Given the description of an element on the screen output the (x, y) to click on. 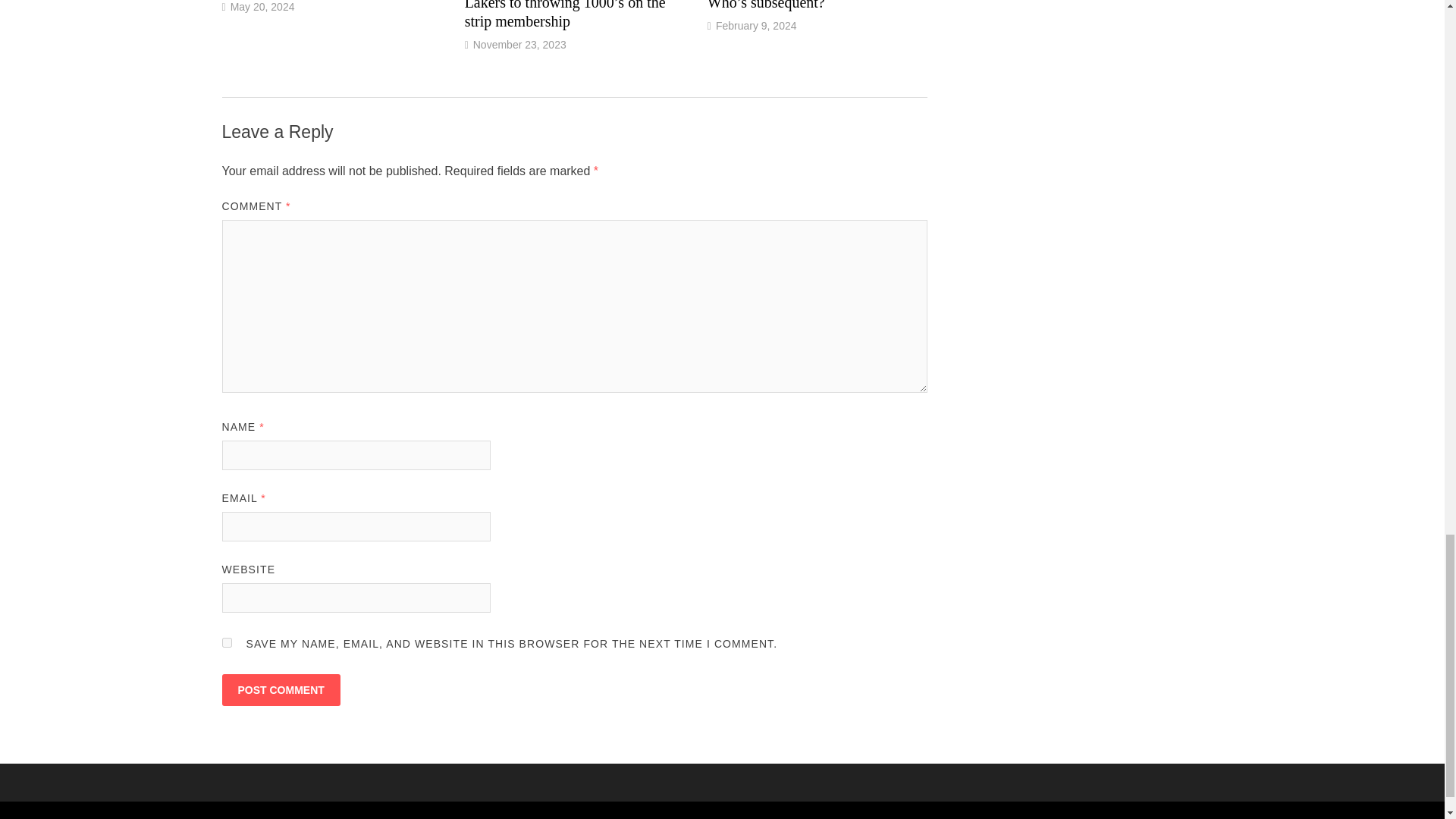
February 9, 2024 (756, 25)
November 23, 2023 (519, 44)
Post Comment (280, 689)
Post Comment (280, 689)
yes (226, 642)
May 20, 2024 (262, 6)
